Given the description of an element on the screen output the (x, y) to click on. 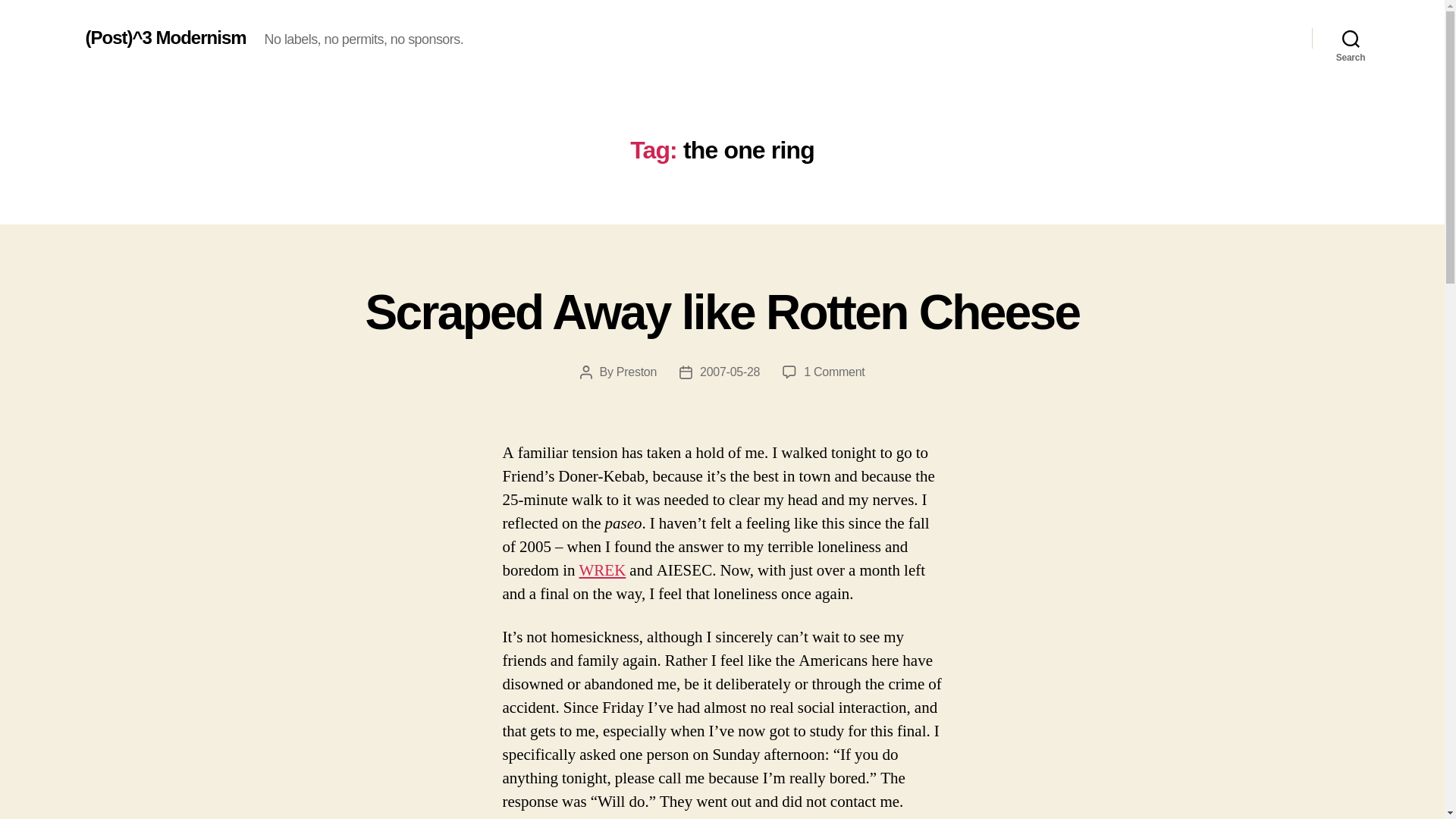
2007-05-28 (730, 371)
Scraped Away like Rotten Cheese (833, 371)
Preston (722, 312)
Search (635, 371)
WREK (1350, 37)
